Given the description of an element on the screen output the (x, y) to click on. 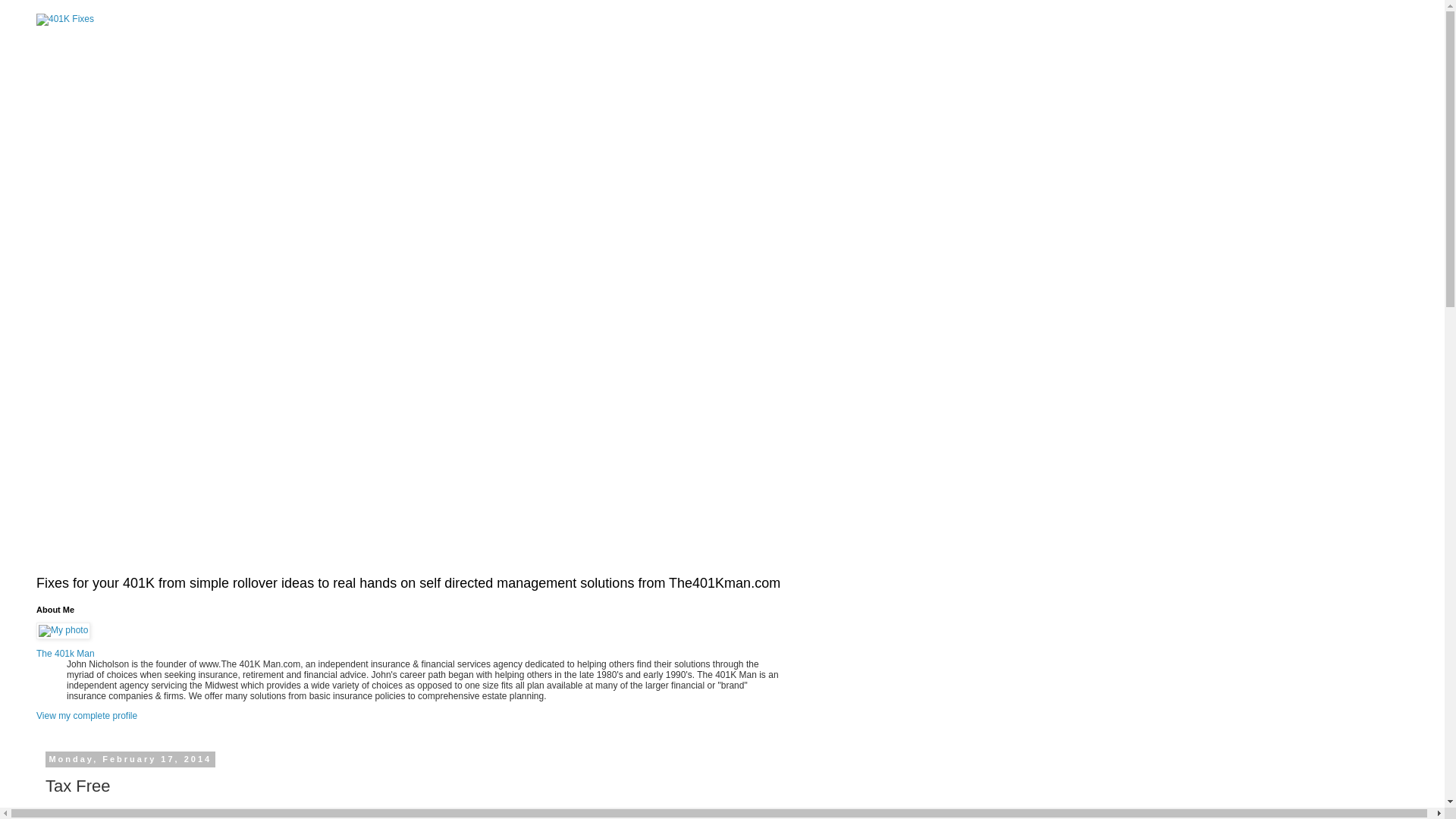
View my complete profile Element type: text (86, 715)
The 401k Man Element type: text (65, 653)
